Given the description of an element on the screen output the (x, y) to click on. 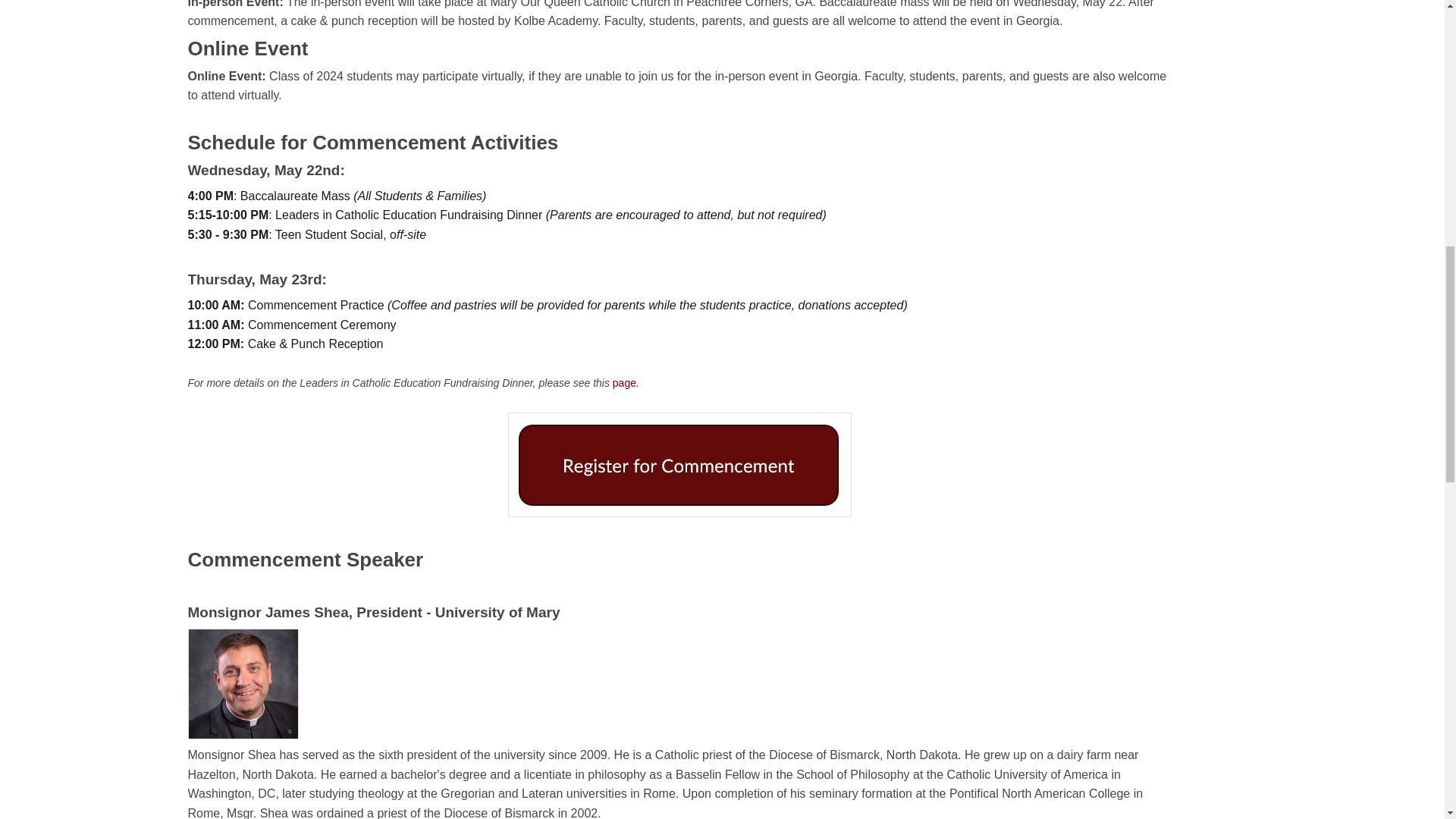
page (624, 382)
